Given the description of an element on the screen output the (x, y) to click on. 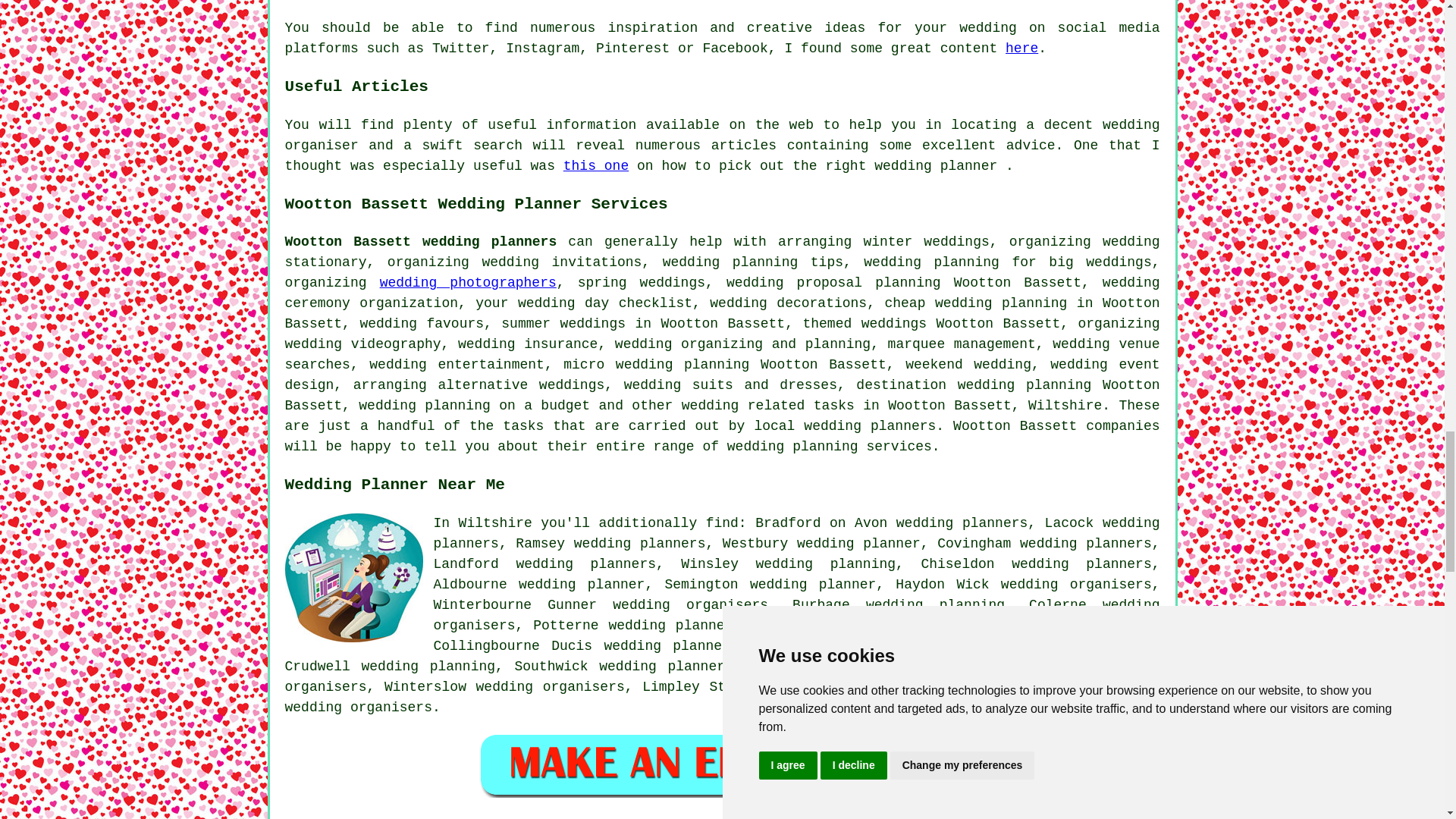
Wiltshire Wedding Planner Near Me (354, 577)
wedding planner (812, 584)
wedding planners (1085, 543)
